Given the description of an element on the screen output the (x, y) to click on. 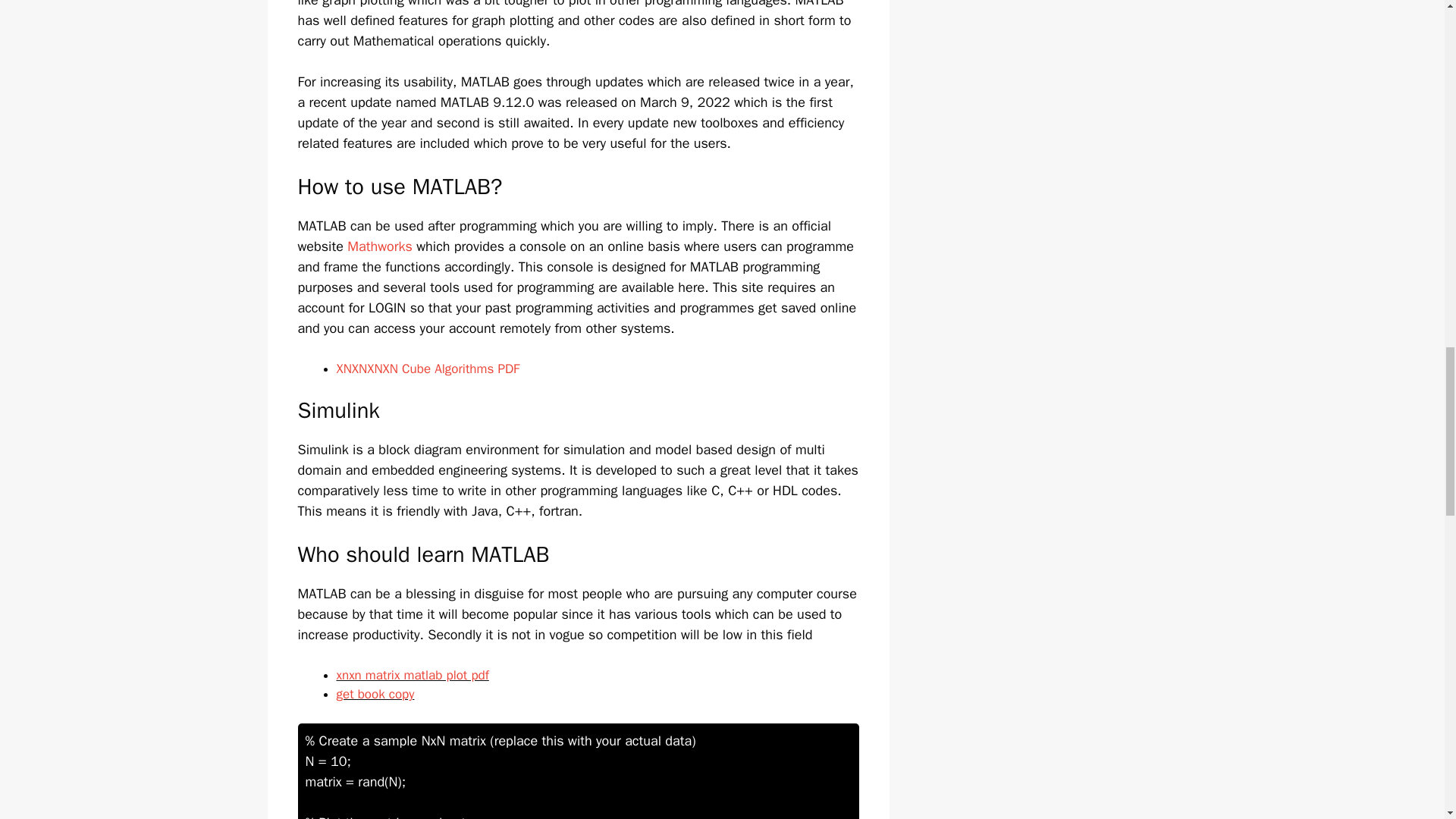
xnxn matrix matlab plot pdf (412, 675)
Mathworks (379, 246)
get book copy (375, 693)
XNXNXNXN Cube Algorithms PDF (427, 368)
